Given the description of an element on the screen output the (x, y) to click on. 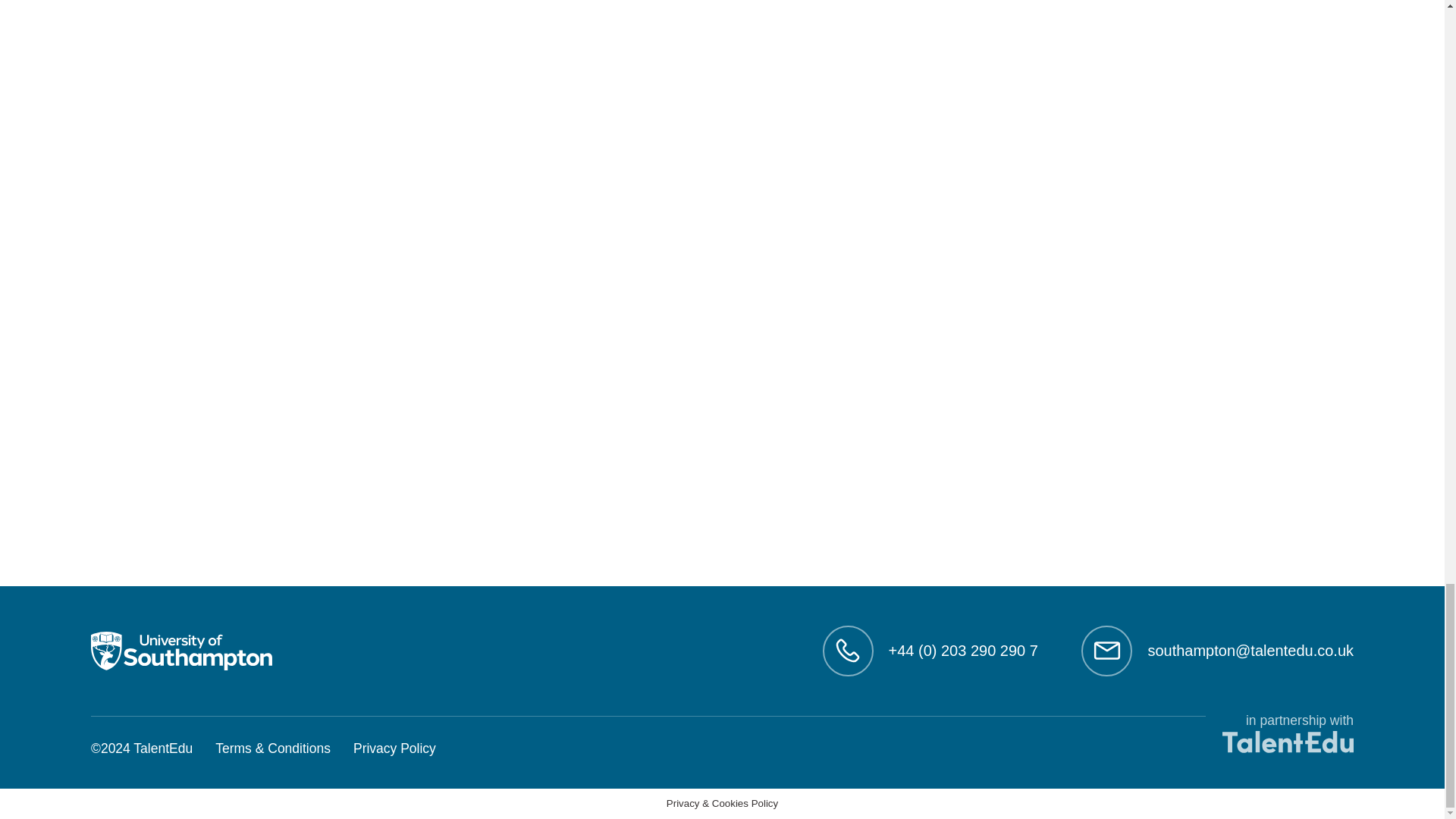
Privacy Policy (394, 748)
Medicine (181, 650)
in partnership with (1279, 734)
